Given the description of an element on the screen output the (x, y) to click on. 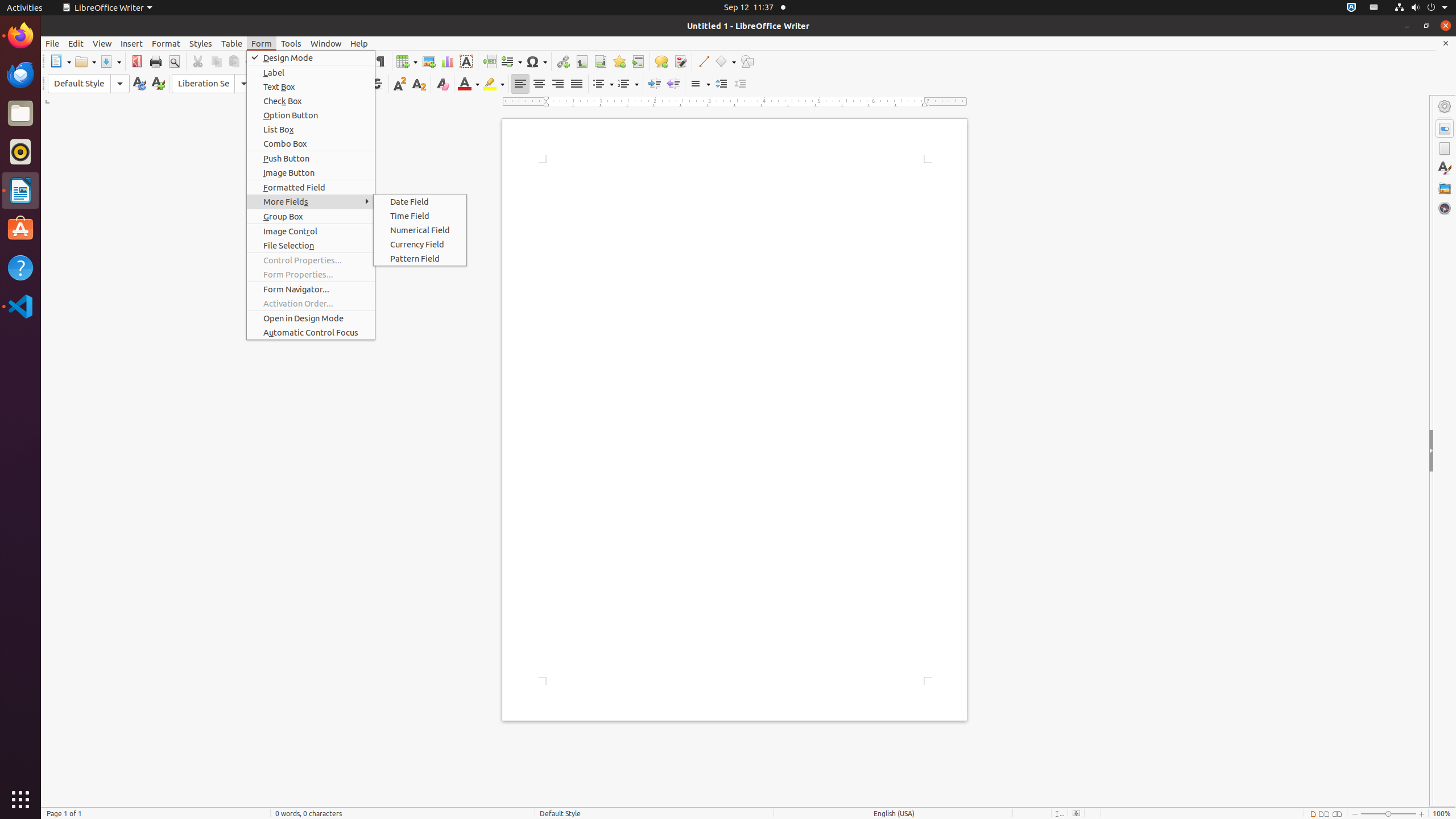
Save Element type: push-button (109, 61)
Combo Box Element type: check-menu-item (310, 143)
Horizontal Ruler Element type: ruler (734, 101)
Show Applications Element type: toggle-button (20, 799)
Group Box Element type: check-menu-item (310, 216)
